Given the description of an element on the screen output the (x, y) to click on. 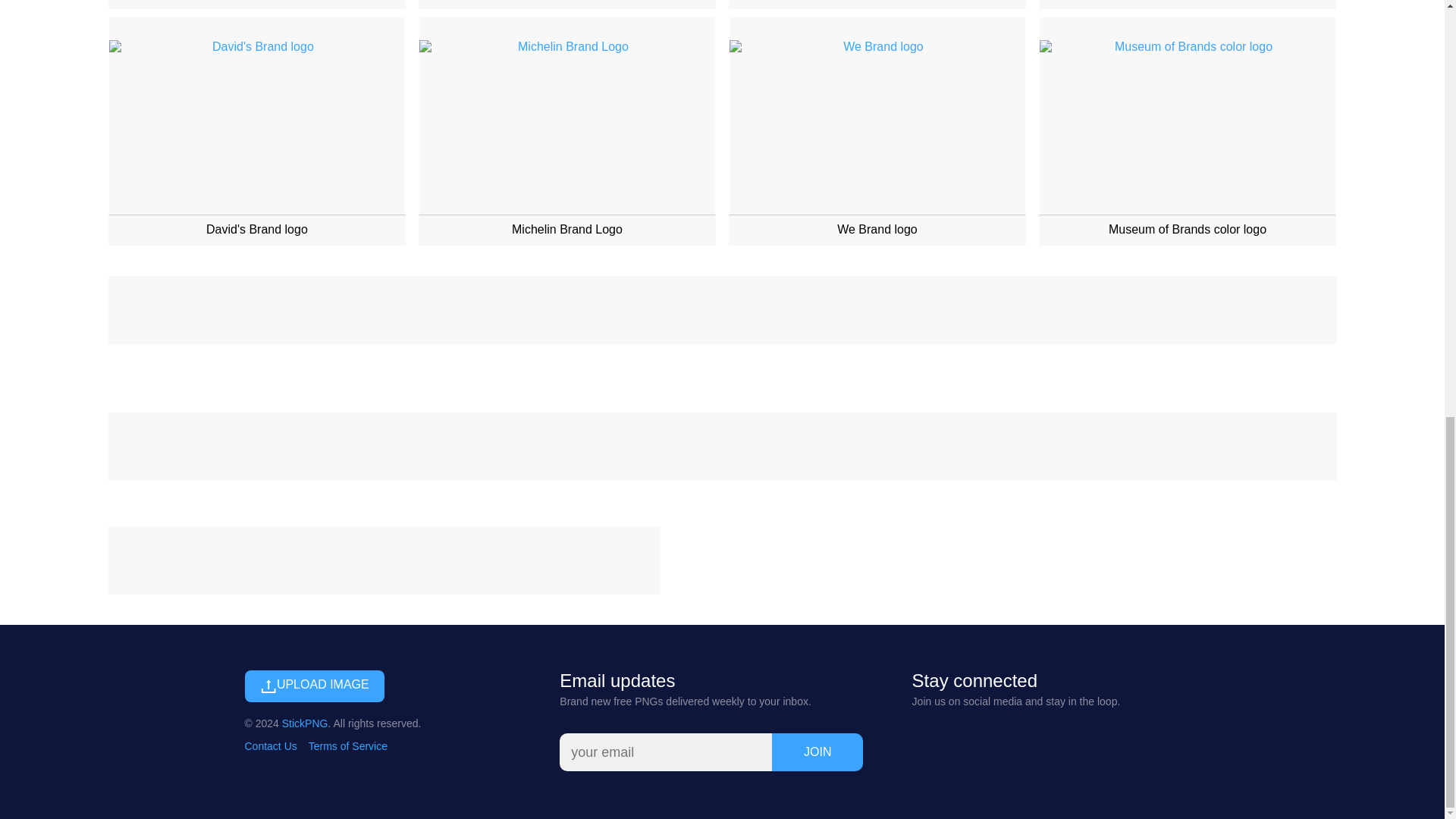
Terms of Service (347, 746)
StickPNG (305, 723)
UPLOAD IMAGE (314, 685)
Contact Us (270, 746)
JOIN (817, 752)
